Given the description of an element on the screen output the (x, y) to click on. 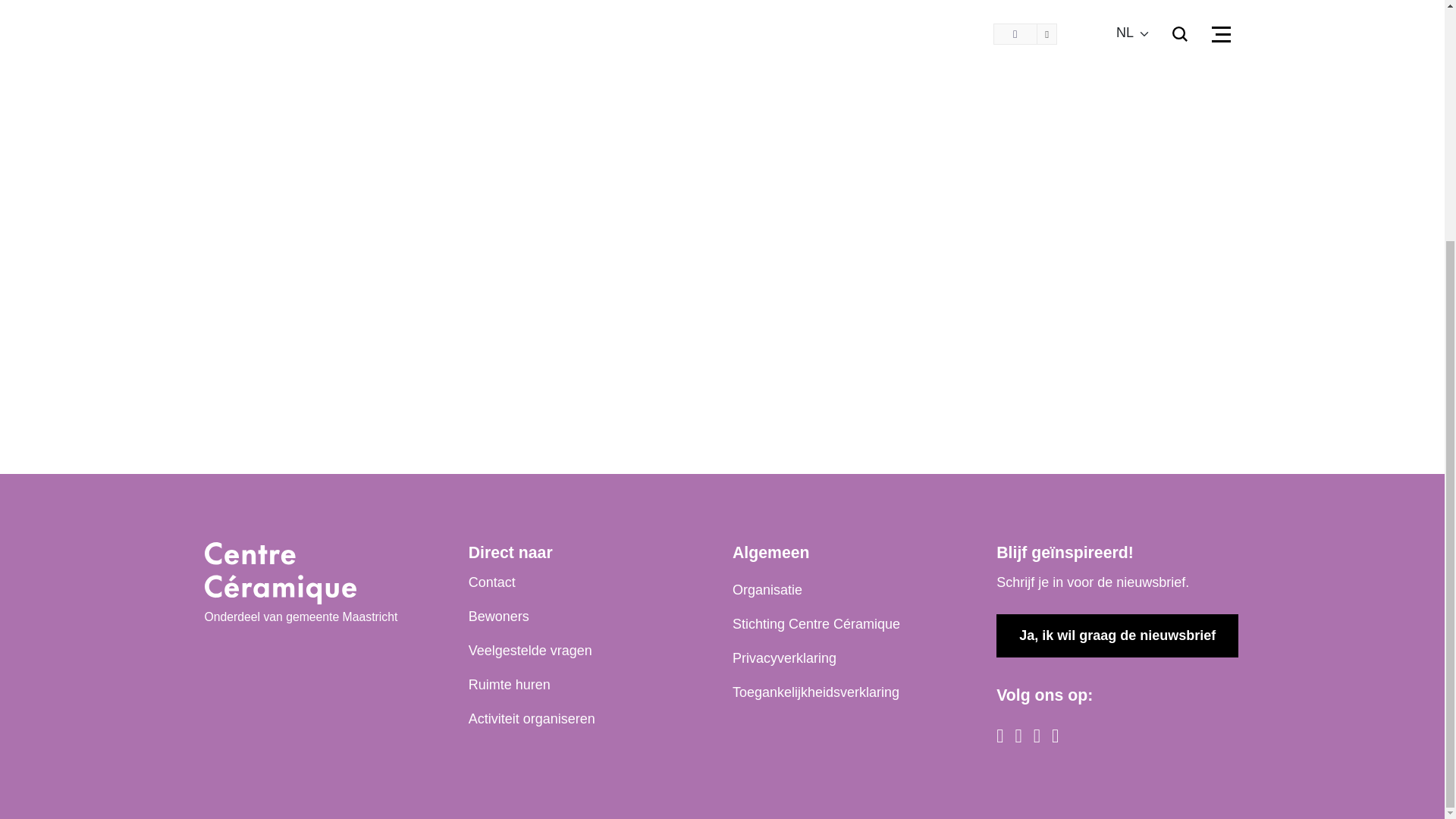
Bewoners (498, 616)
Ja, ik wil graag de nieuwsbrief (1117, 635)
Activiteit organiseren (531, 719)
Ruimte huren (509, 684)
Organisatie (767, 589)
Veelgestelde vragen (530, 650)
Toegankelijkheidsverklaring (815, 692)
Privacyverklaring (783, 658)
Contact (491, 582)
